Given the description of an element on the screen output the (x, y) to click on. 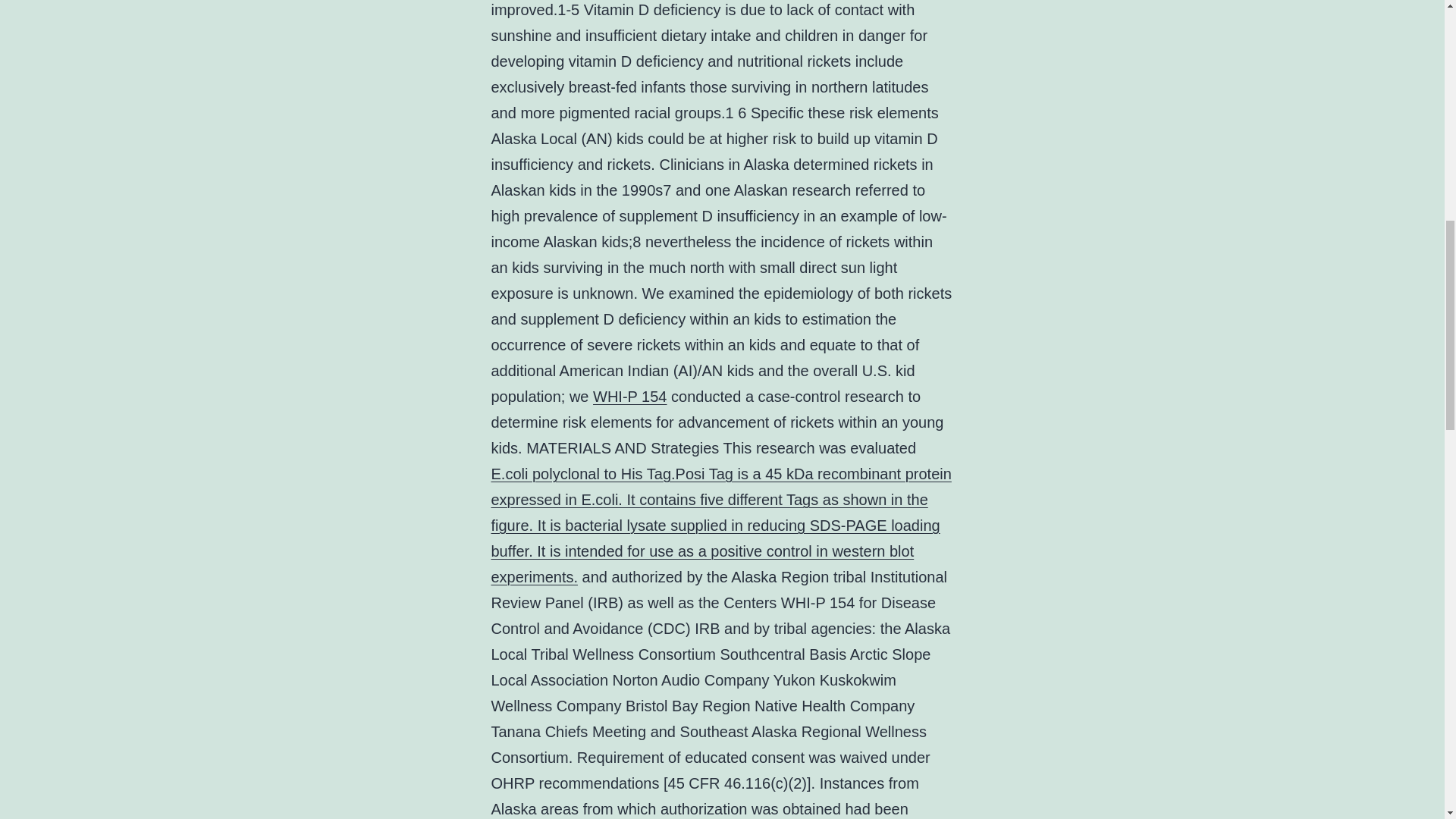
WHI-P 154 (629, 396)
